Given the description of an element on the screen output the (x, y) to click on. 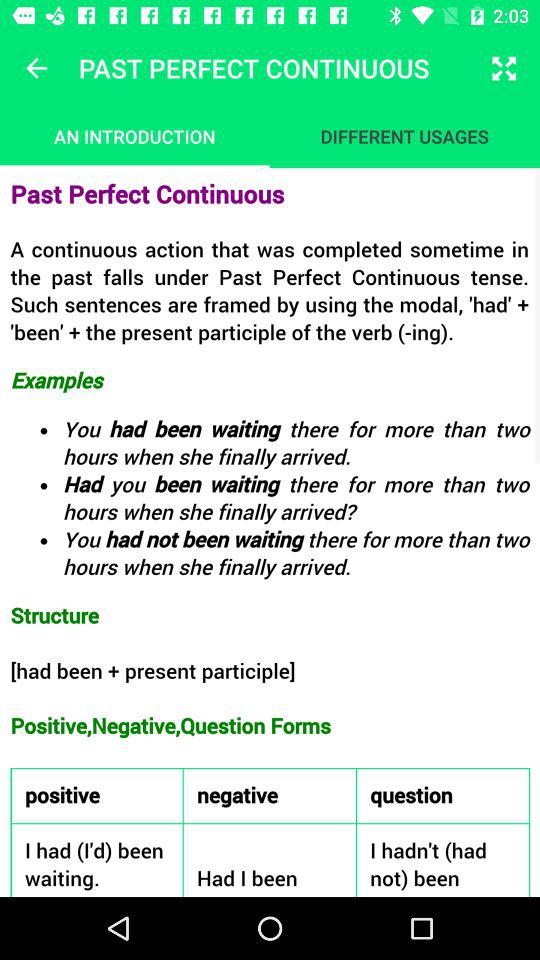
learning information area (270, 532)
